Given the description of an element on the screen output the (x, y) to click on. 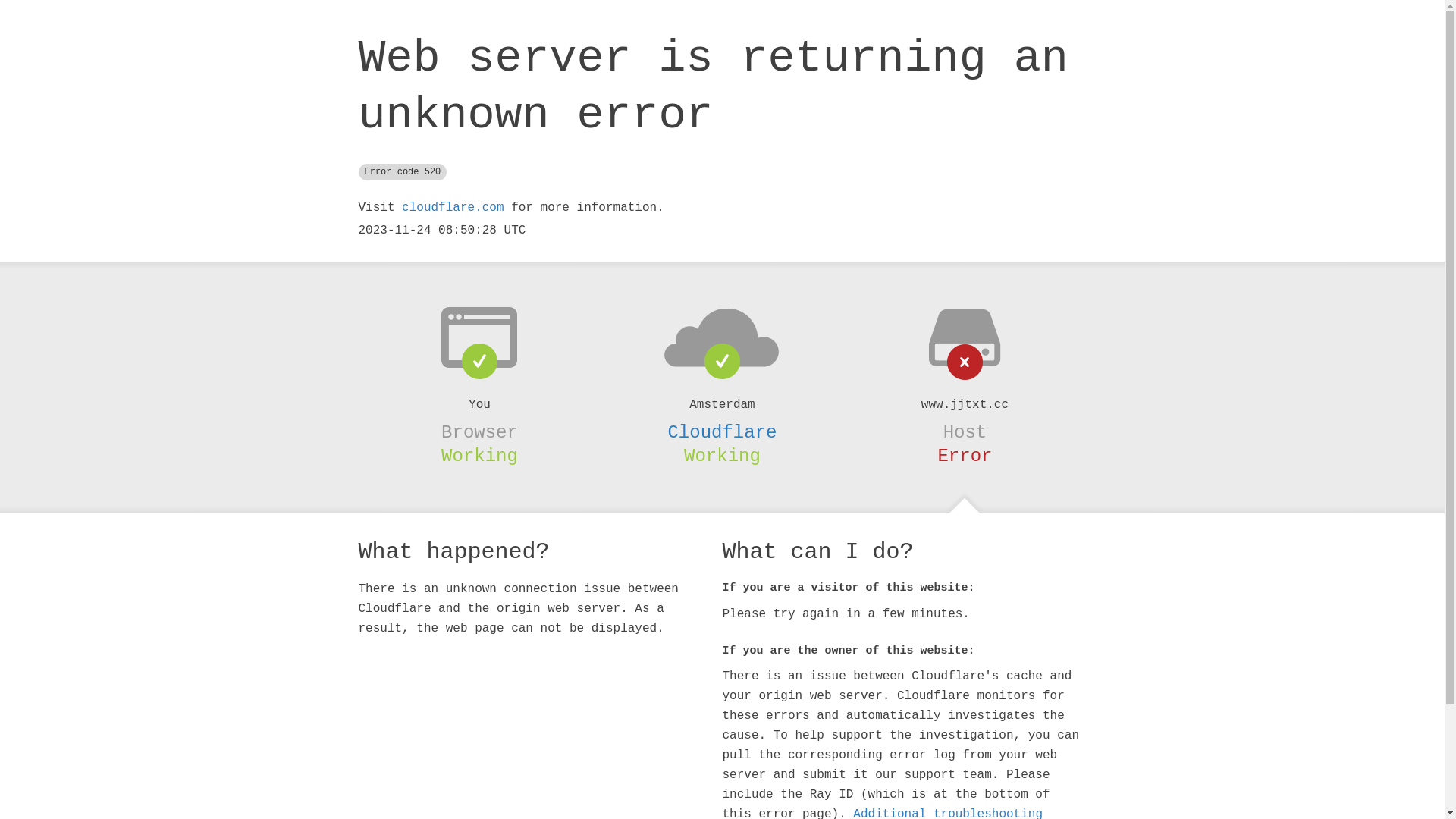
cloudflare.com Element type: text (452, 207)
Cloudflare Element type: text (721, 432)
